Given the description of an element on the screen output the (x, y) to click on. 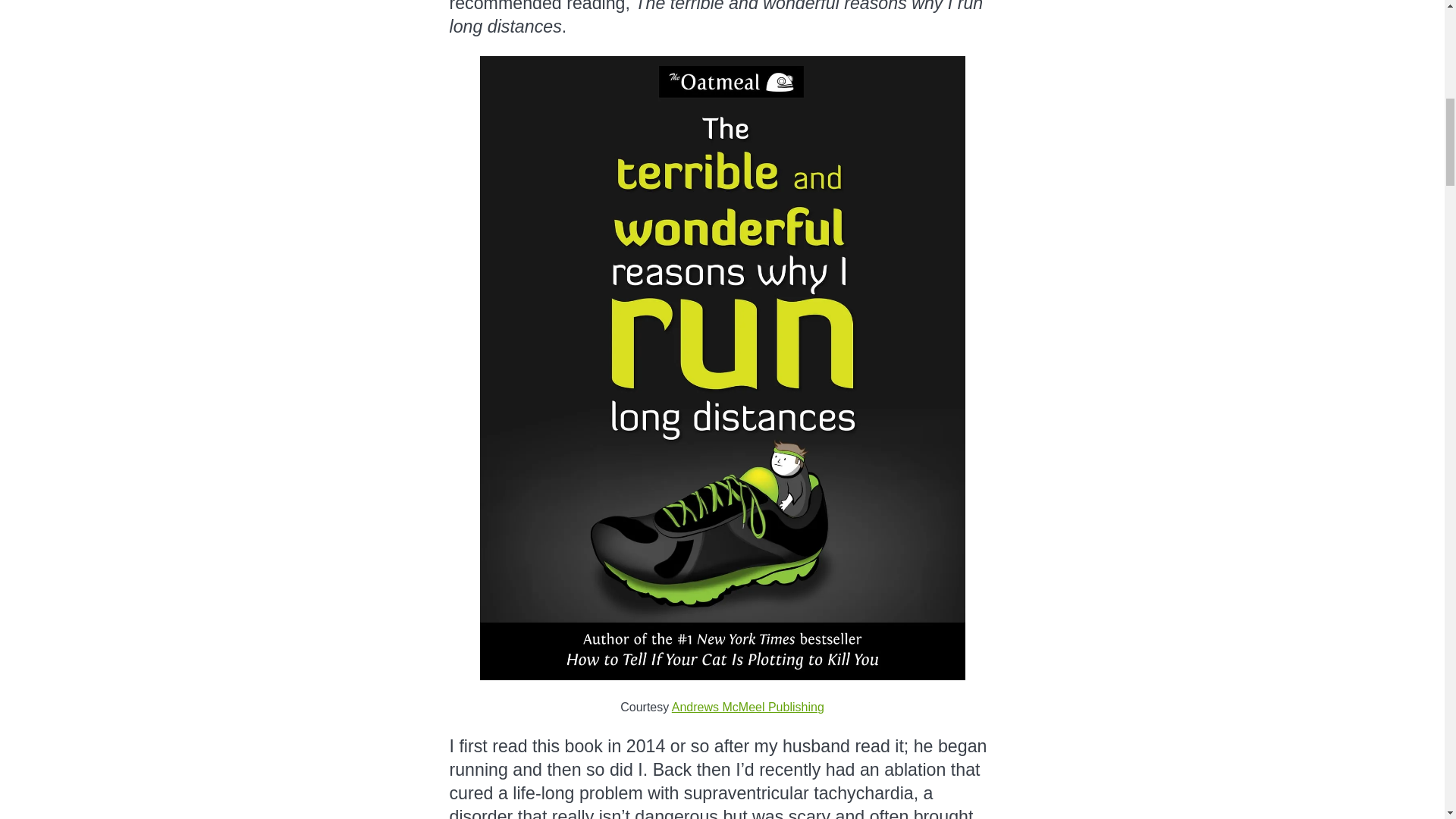
Andrews McMeel Publishing (747, 707)
